Given the description of an element on the screen output the (x, y) to click on. 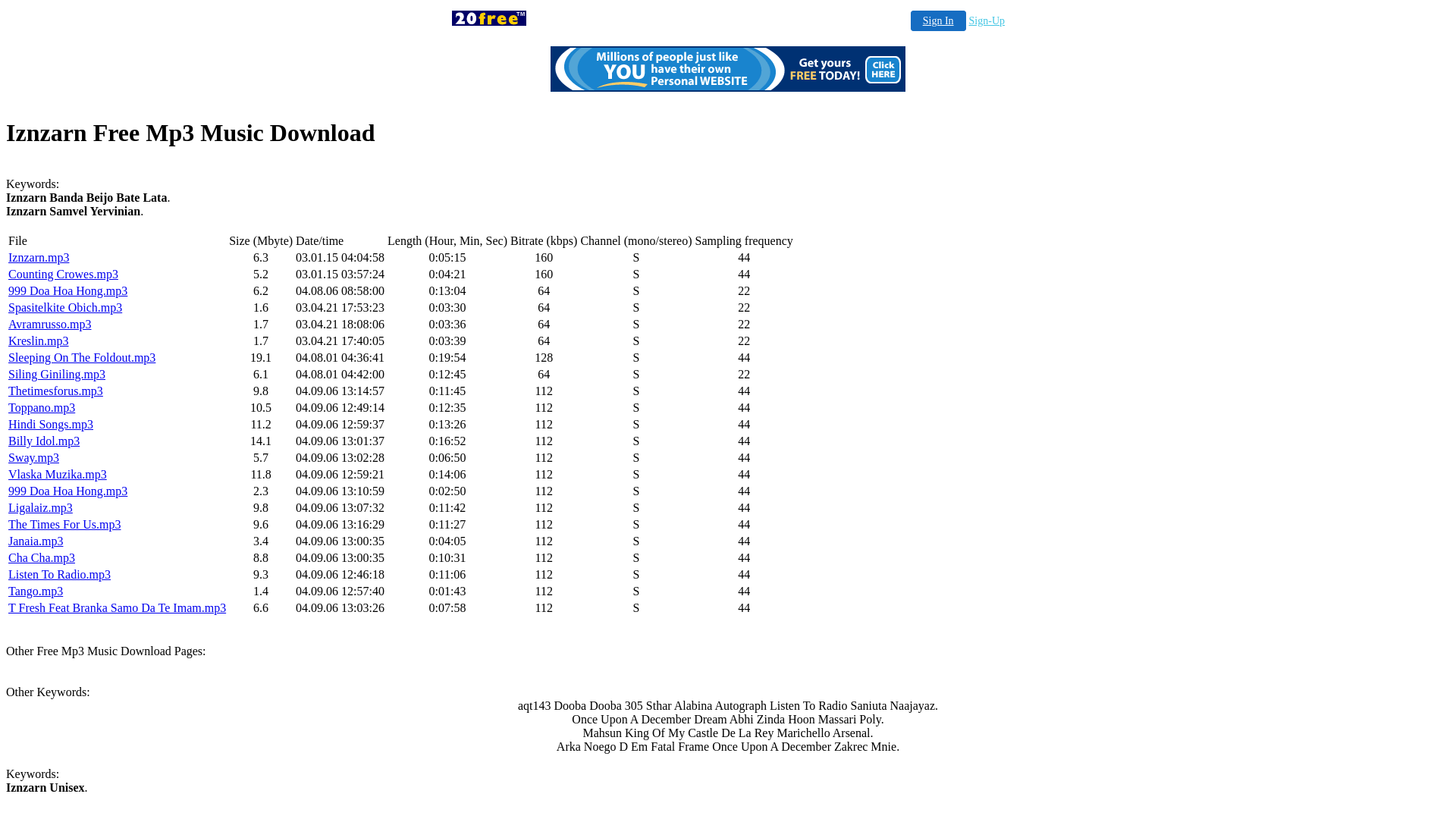
Ligalaiz.mp3 Element type: text (40, 507)
Avramrusso.mp3 Element type: text (49, 323)
Sleeping On The Foldout.mp3 Element type: text (81, 357)
The Times For Us.mp3 Element type: text (64, 523)
Siling Giniling.mp3 Element type: text (56, 373)
Spasitelkite Obich.mp3 Element type: text (65, 307)
Iznzarn.mp3 Element type: text (38, 257)
Counting Crowes.mp3 Element type: text (63, 273)
Vlaska Muzika.mp3 Element type: text (57, 473)
Kreslin.mp3 Element type: text (38, 340)
Sign In Element type: text (938, 20)
Billy Idol.mp3 Element type: text (43, 440)
Janaia.mp3 Element type: text (35, 540)
Hindi Songs.mp3 Element type: text (50, 423)
Tango.mp3 Element type: text (35, 590)
Listen To Radio.mp3 Element type: text (59, 573)
999 Doa Hoa Hong.mp3 Element type: text (67, 290)
Thetimesforus.mp3 Element type: text (55, 390)
999 Doa Hoa Hong.mp3 Element type: text (67, 490)
Cha Cha.mp3 Element type: text (41, 557)
Sign-Up Element type: text (986, 20)
T Fresh Feat Branka Samo Da Te Imam.mp3 Element type: text (116, 607)
Toppano.mp3 Element type: text (41, 407)
Sway.mp3 Element type: text (33, 457)
